Given the description of an element on the screen output the (x, y) to click on. 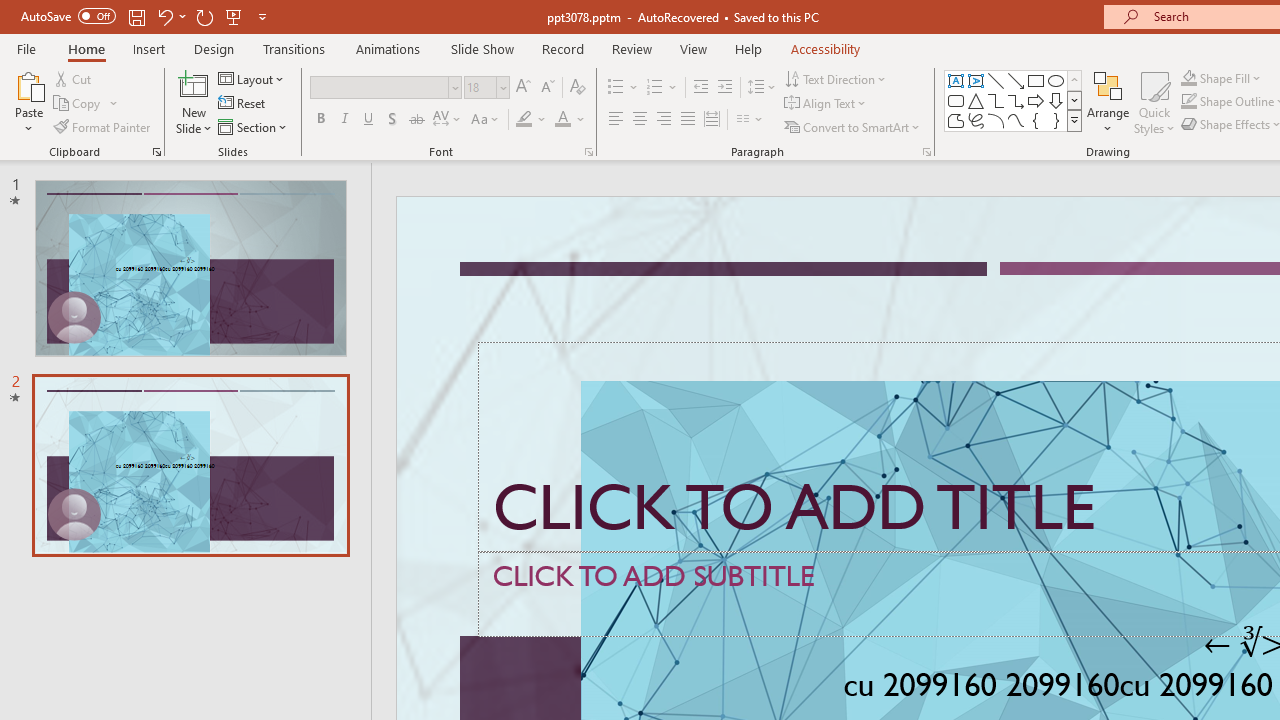
Shape Fill Dark Green, Accent 2 (1188, 78)
